Given the description of an element on the screen output the (x, y) to click on. 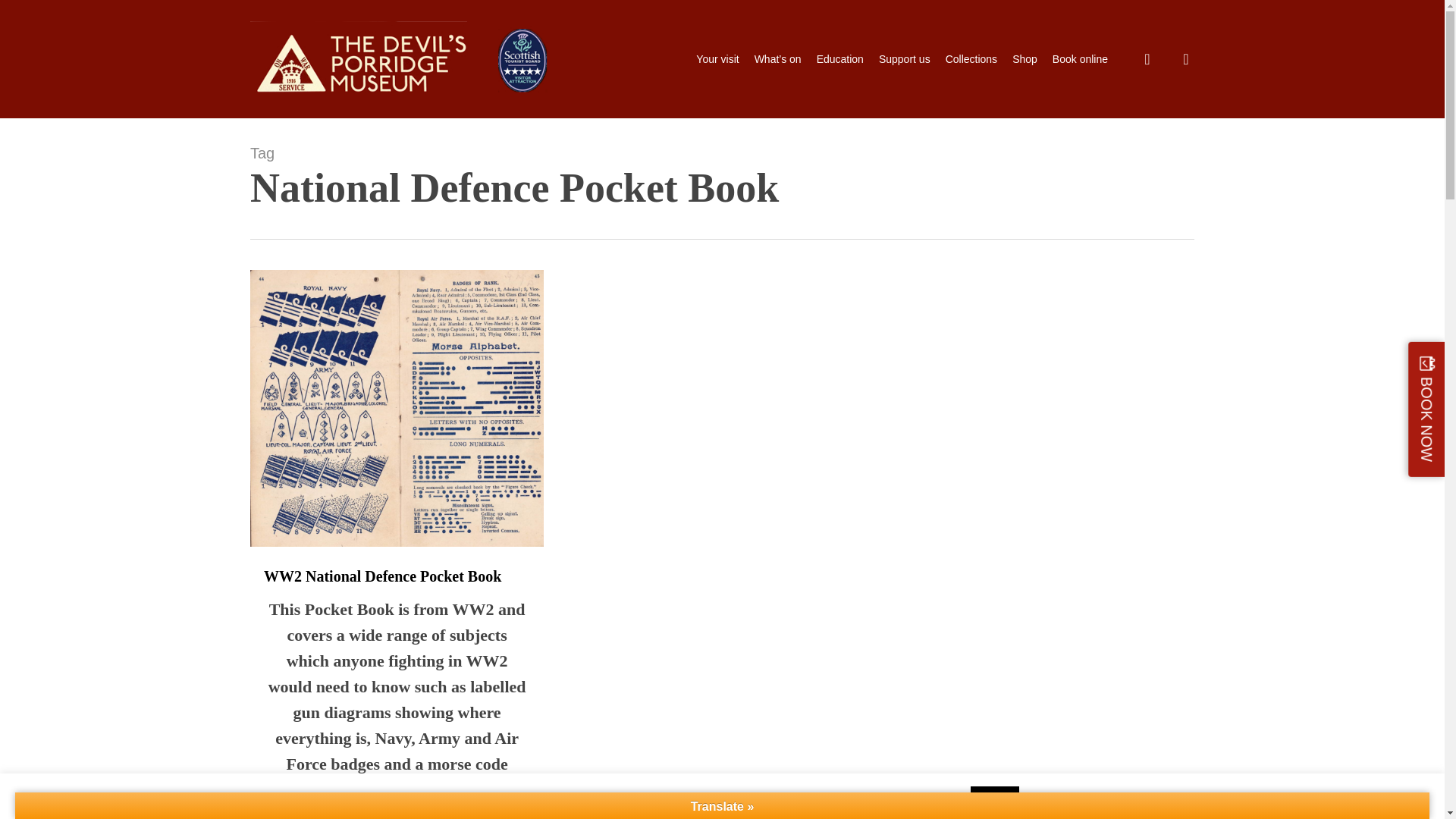
Education (839, 59)
search (1147, 59)
Collections (970, 59)
Support us (904, 59)
WW2 National Defence Pocket Book (381, 576)
Your visit (716, 59)
Shop (1023, 59)
Book online (1080, 59)
